Given the description of an element on the screen output the (x, y) to click on. 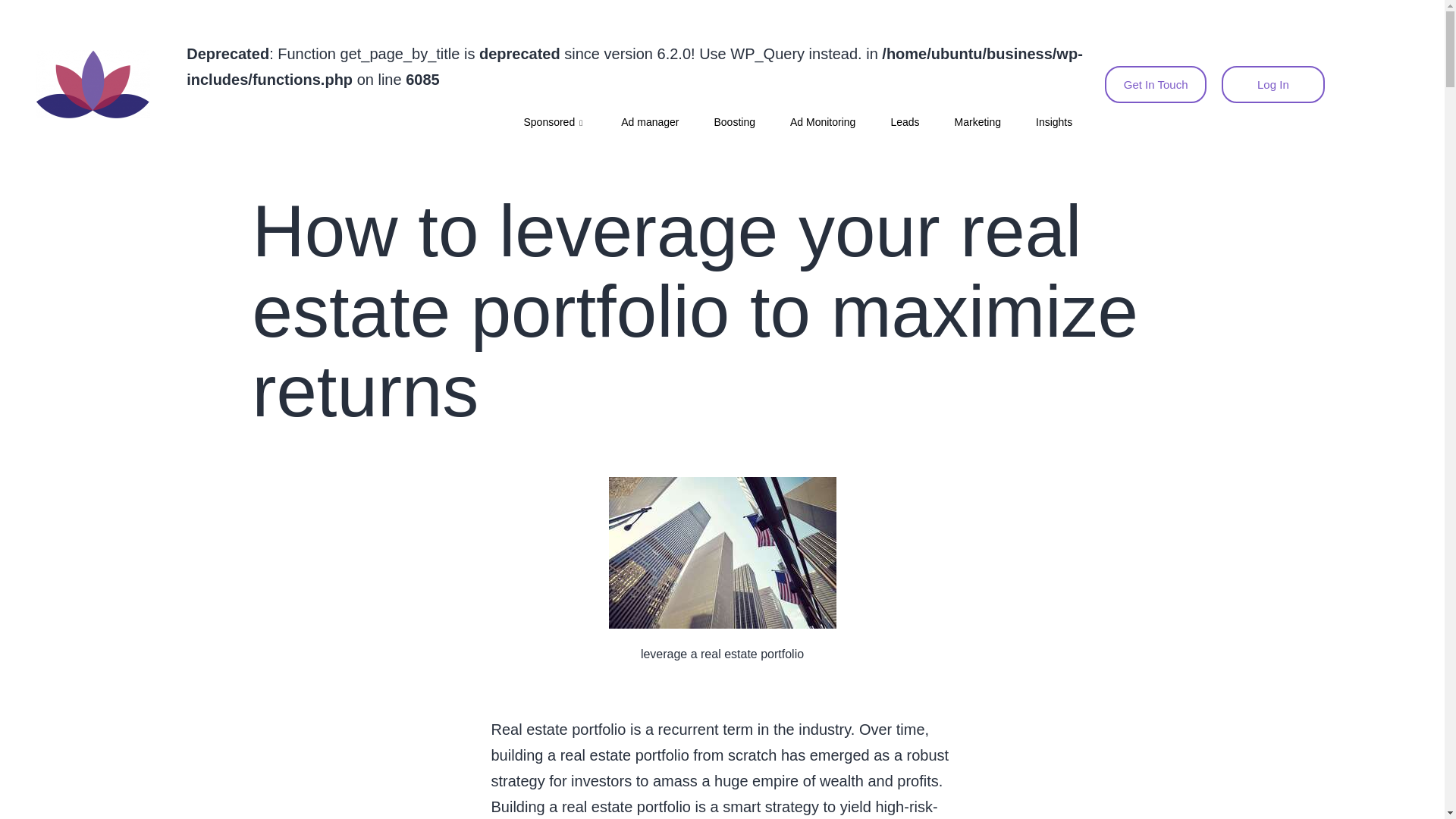
Ad Monitoring (822, 122)
Get In Touch (1156, 83)
Insights (1053, 122)
Sponsored (554, 122)
Leads (904, 122)
Marketing (977, 122)
Ad manager (649, 122)
Log In (1272, 83)
Boosting (733, 122)
